Given the description of an element on the screen output the (x, y) to click on. 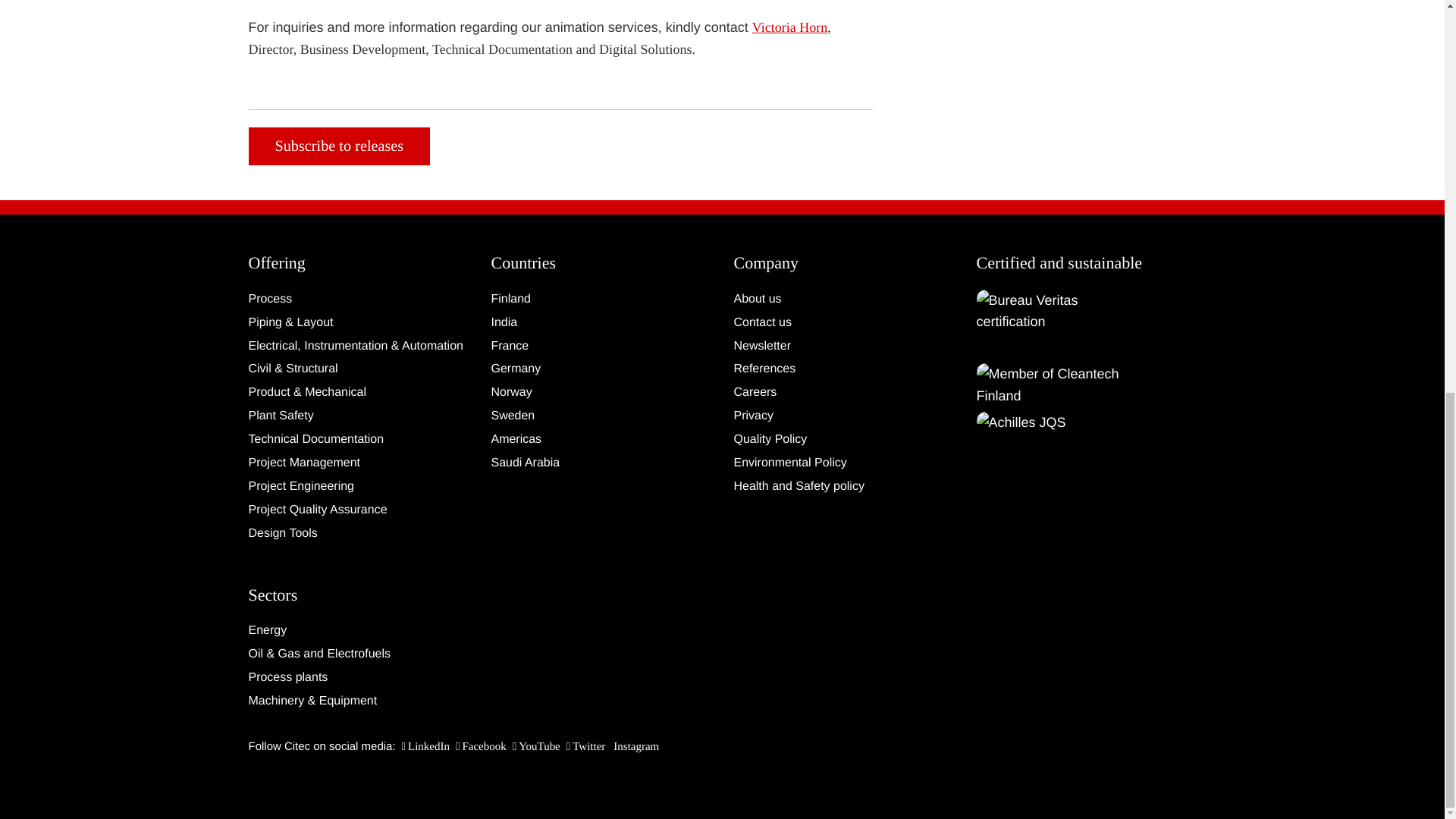
Subscribe to releases (339, 146)
Process (358, 299)
Victoria Horn (789, 27)
Project Management (358, 463)
Technical Documentation (358, 439)
Plant Safety (358, 415)
